Given the description of an element on the screen output the (x, y) to click on. 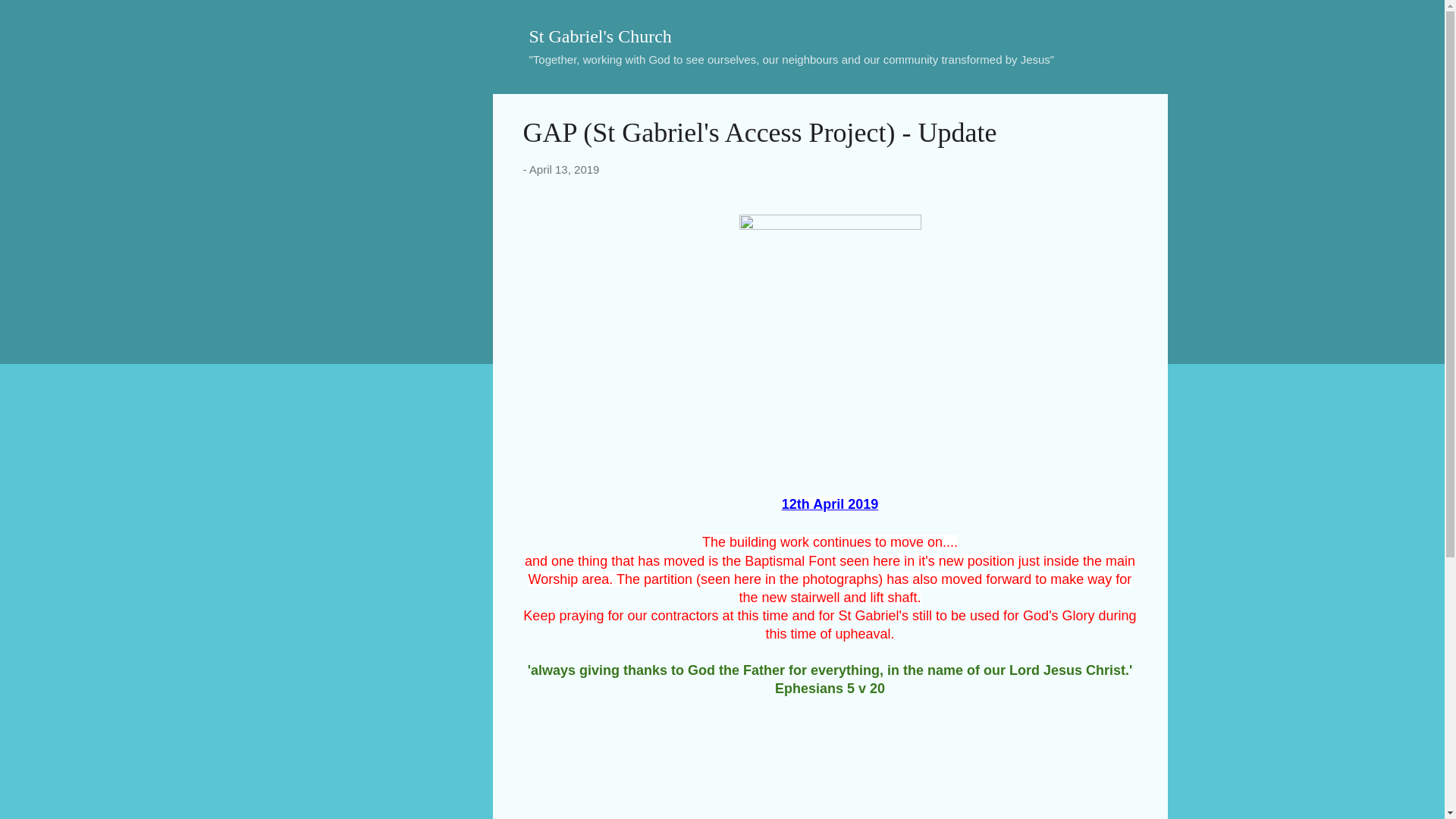
permanent link (564, 169)
St Gabriel's Church (600, 35)
April 13, 2019 (564, 169)
Search (29, 18)
